Given the description of an element on the screen output the (x, y) to click on. 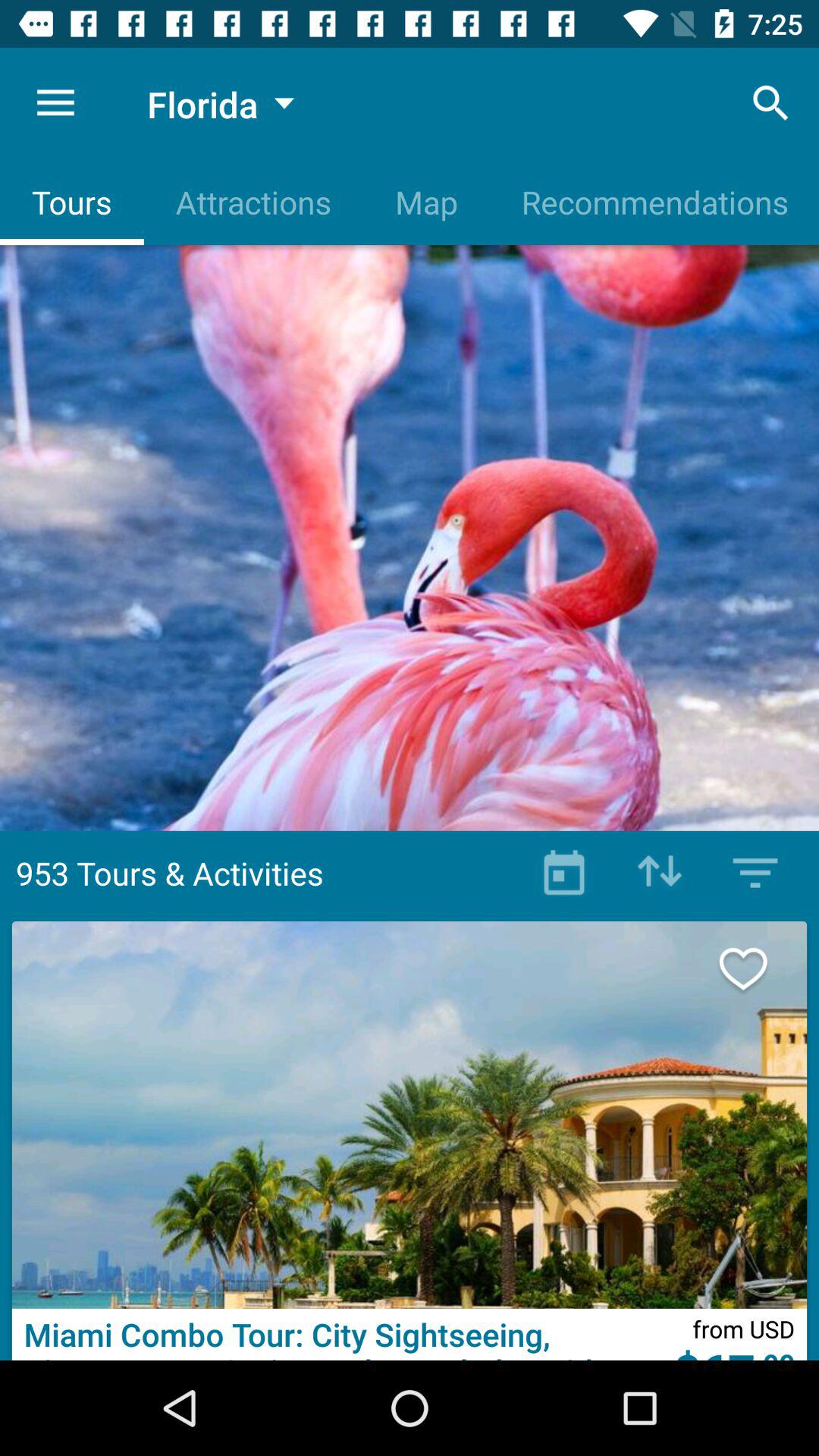
sort by (659, 872)
